Given the description of an element on the screen output the (x, y) to click on. 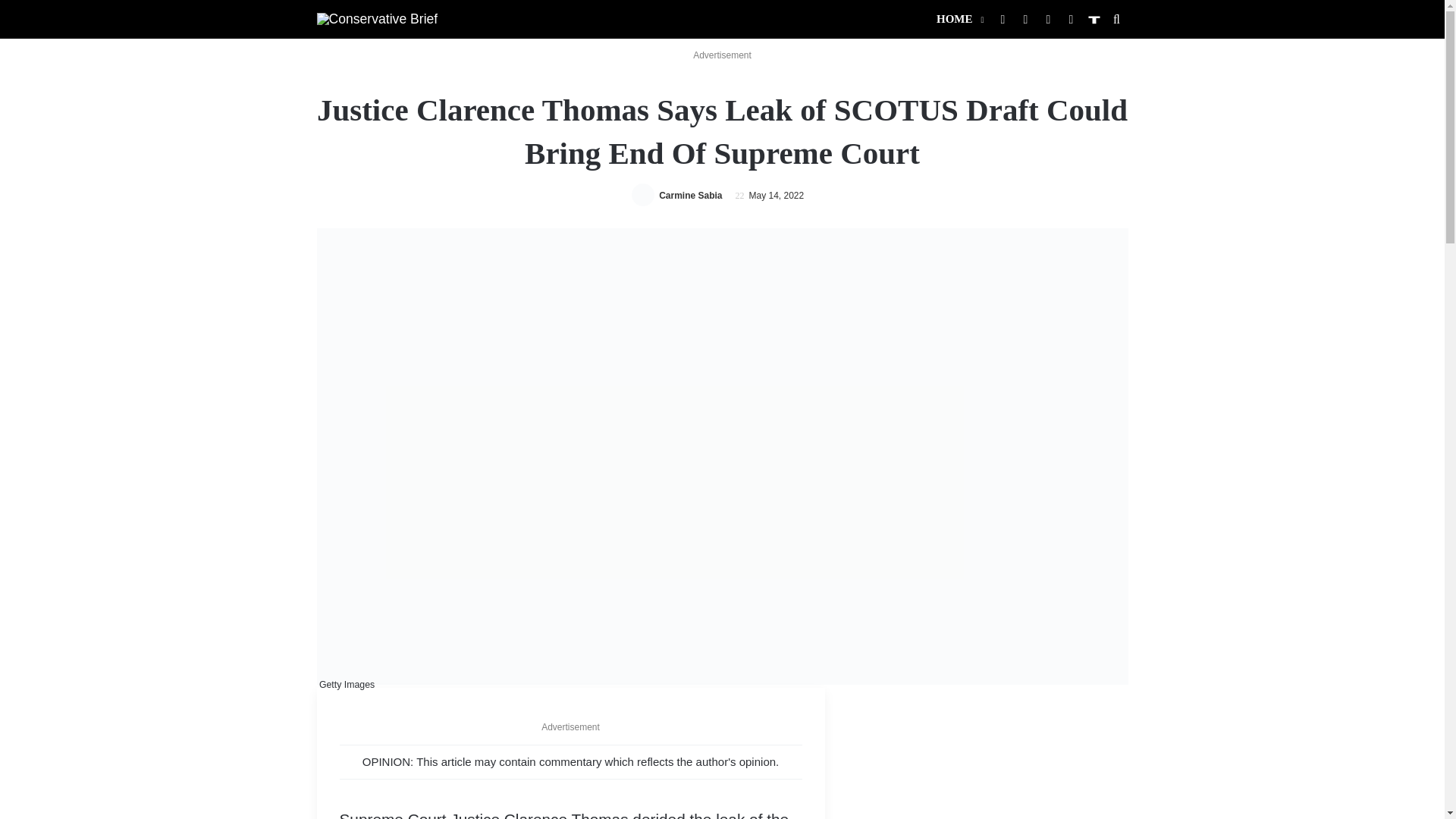
Conservative Brief (377, 18)
Carmine Sabia (690, 195)
HOME (958, 19)
Carmine Sabia (690, 195)
